Given the description of an element on the screen output the (x, y) to click on. 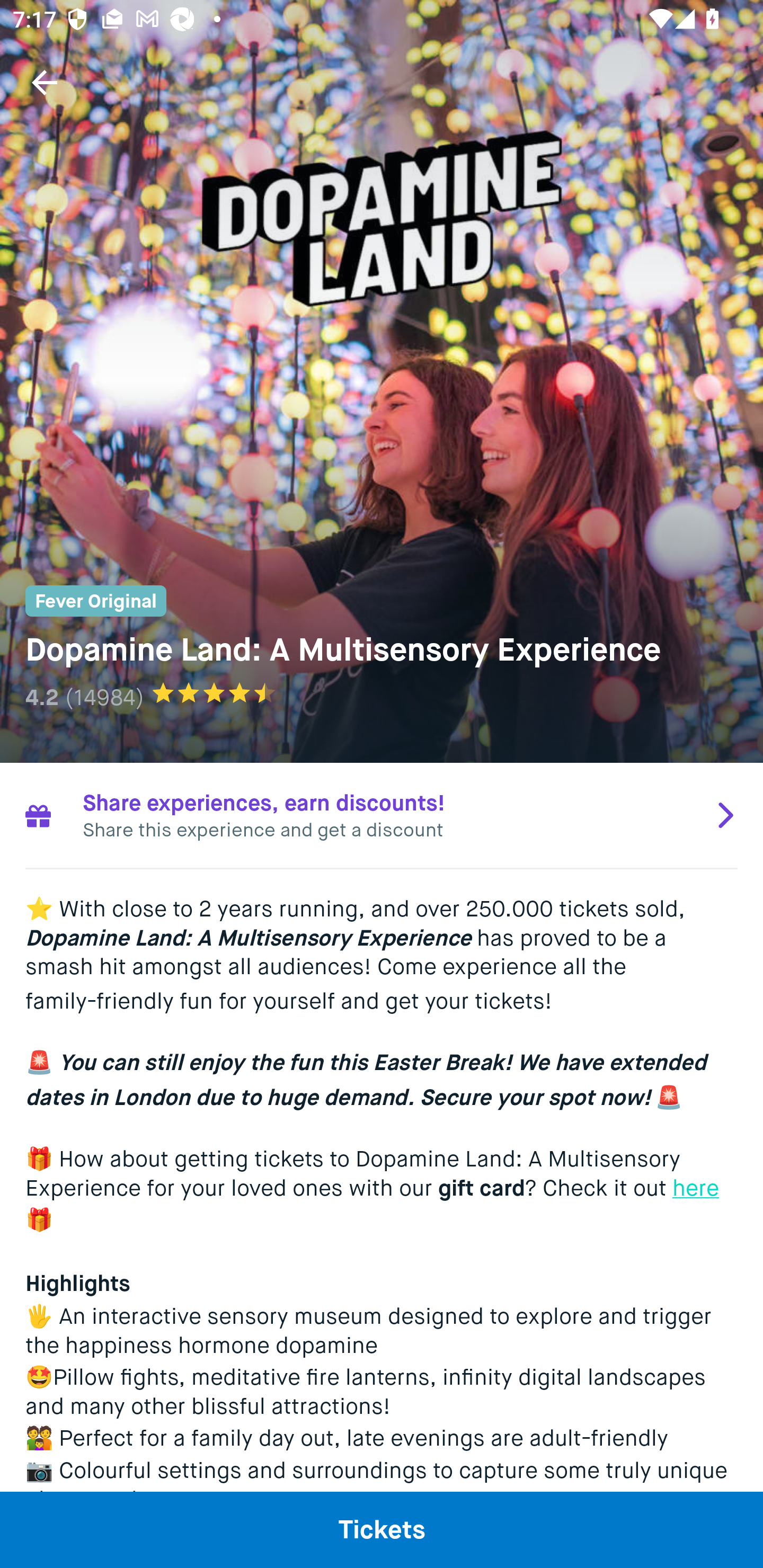
Navigate up (44, 82)
(14984) (104, 697)
Tickets (381, 1529)
